Given the description of an element on the screen output the (x, y) to click on. 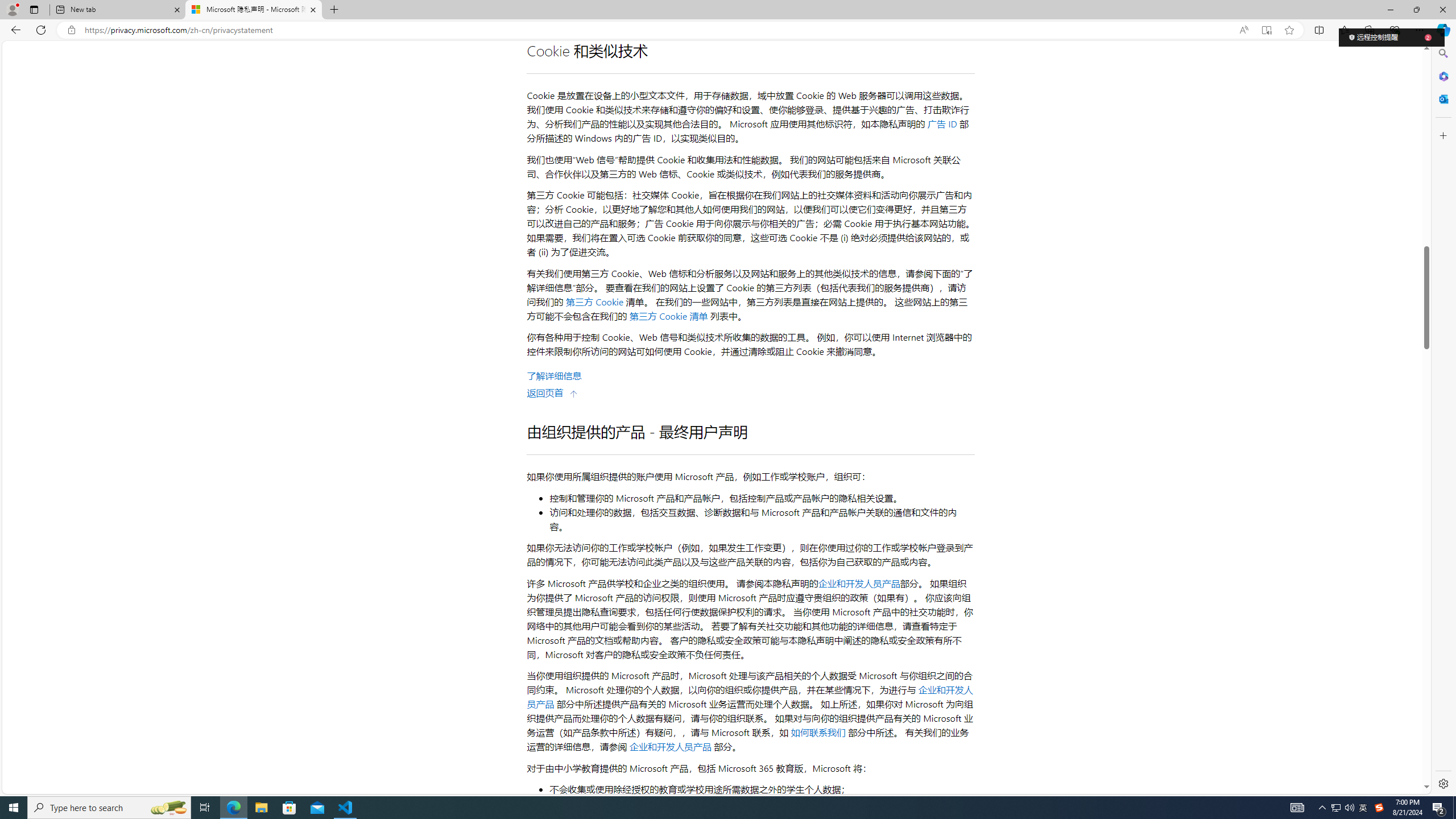
Customize (1442, 135)
